Given the description of an element on the screen output the (x, y) to click on. 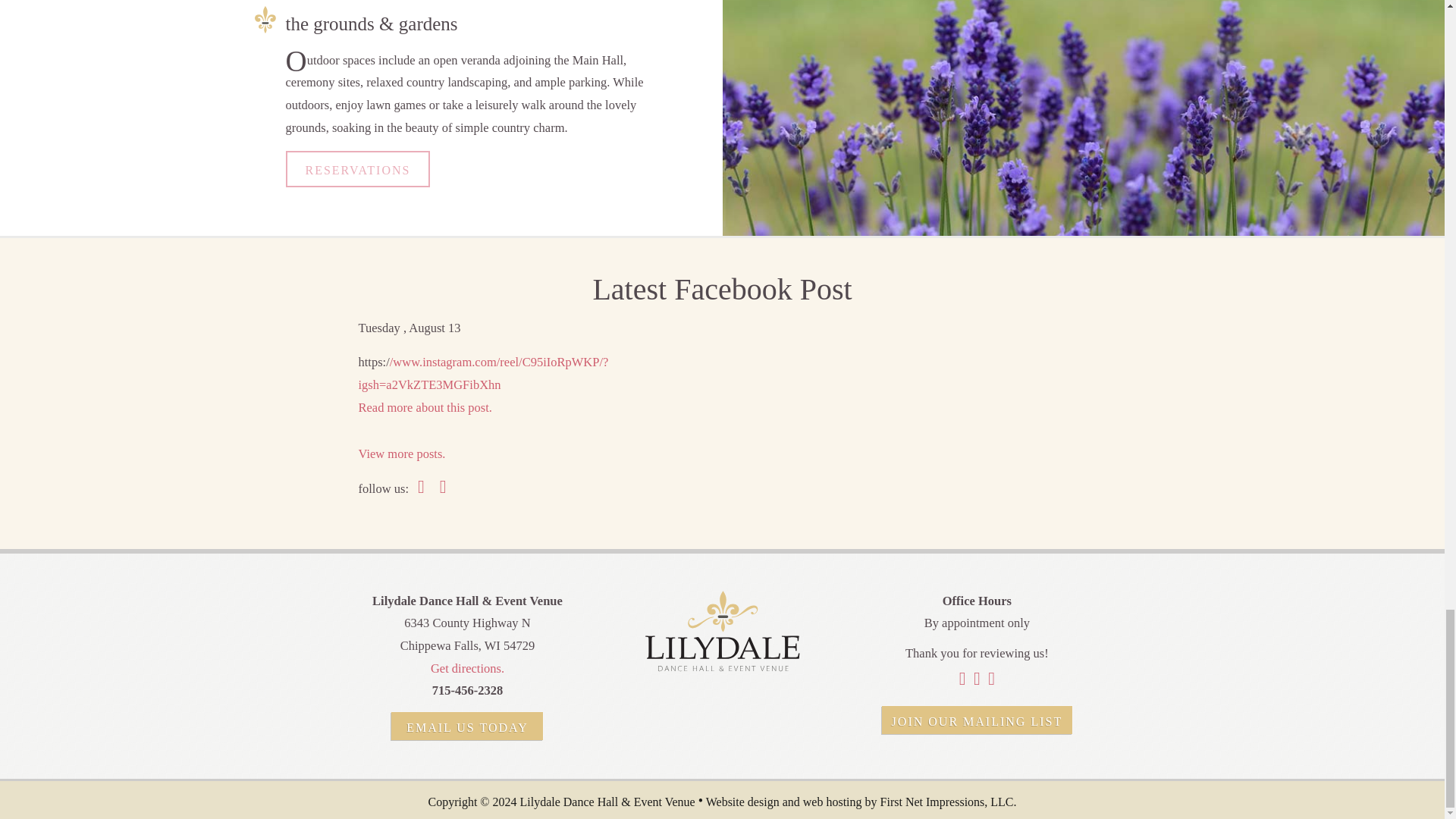
715-456-2328 (467, 690)
EMAIL US TODAY (467, 725)
RESERVATIONS (357, 168)
View more posts. (401, 453)
Read more about this post. (425, 407)
Get directions. (466, 667)
JOIN OUR MAILING LIST (976, 719)
